Given the description of an element on the screen output the (x, y) to click on. 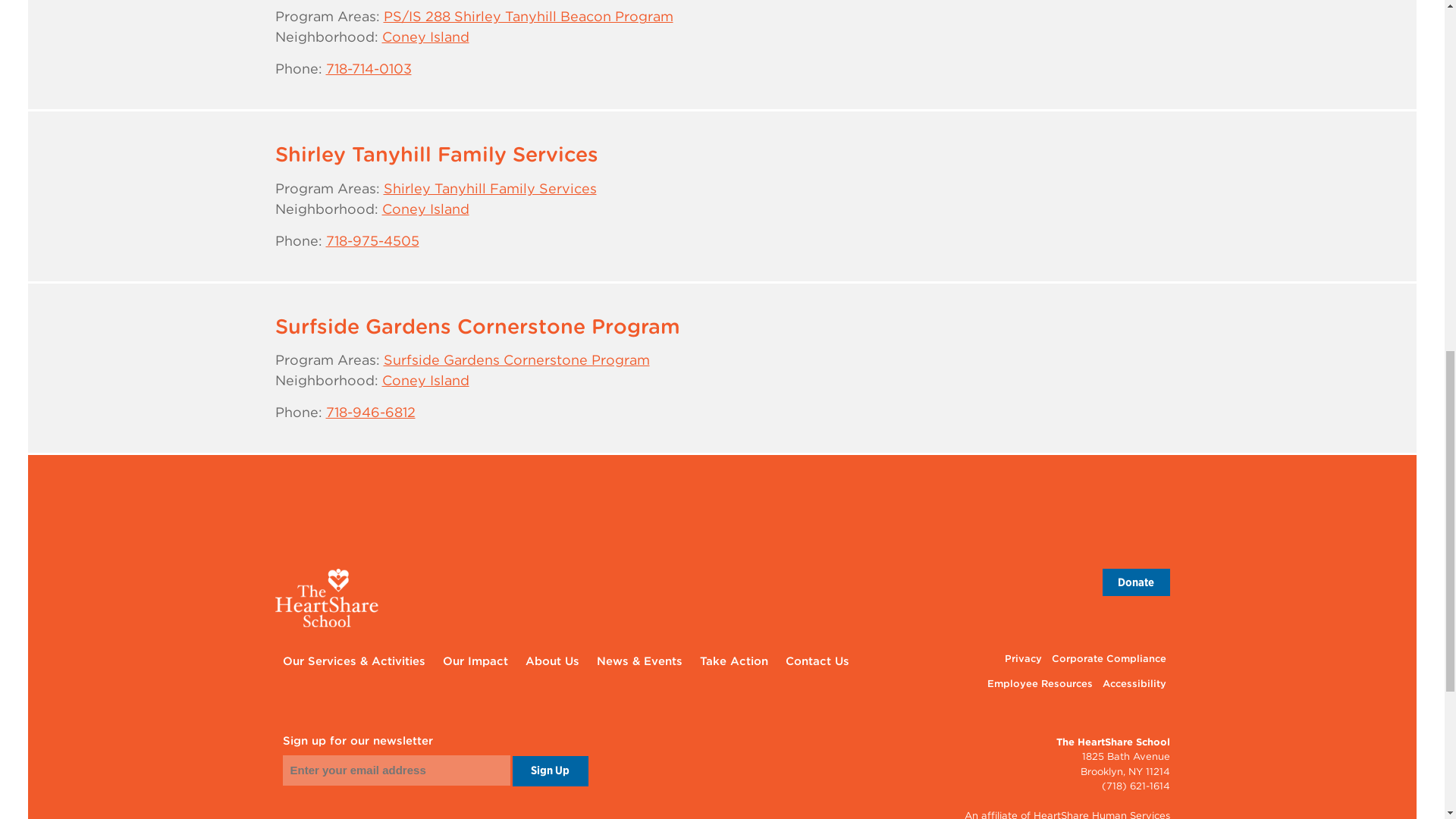
Call this service location (370, 412)
Call this service location (369, 68)
Sign Up (550, 770)
Call this service location (372, 240)
Make a donation to HeartShare (1136, 582)
back to home page (722, 597)
